Given the description of an element on the screen output the (x, y) to click on. 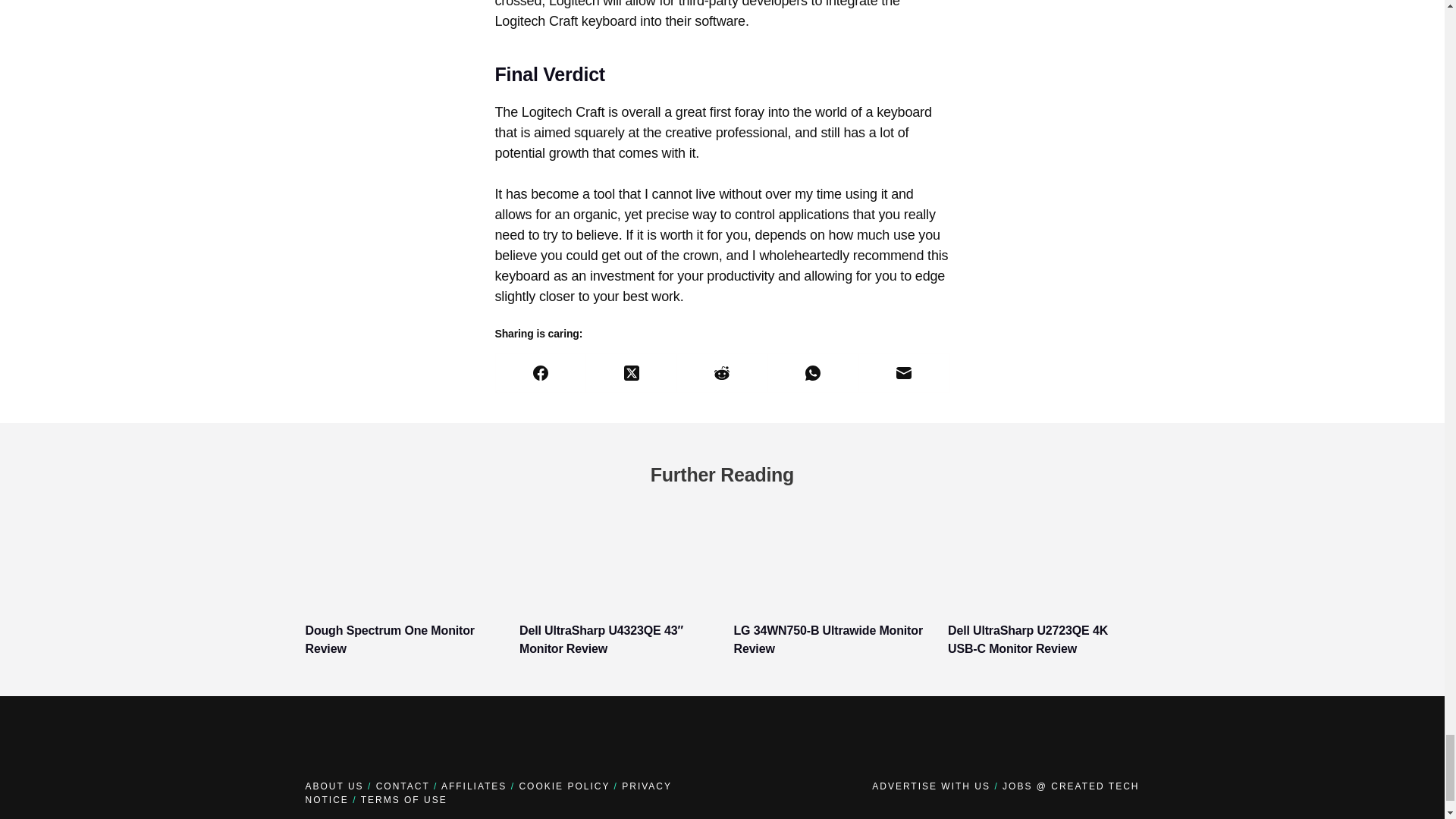
ABOUT US (333, 786)
LG 34WN750-B Ultrawide Monitor Review (828, 639)
Dough Spectrum One Monitor Review (389, 639)
AFFILIATES (473, 786)
CONTACT (402, 786)
Dell UltraSharp U2723QE 4K USB-C Monitor Review (1027, 639)
